Given the description of an element on the screen output the (x, y) to click on. 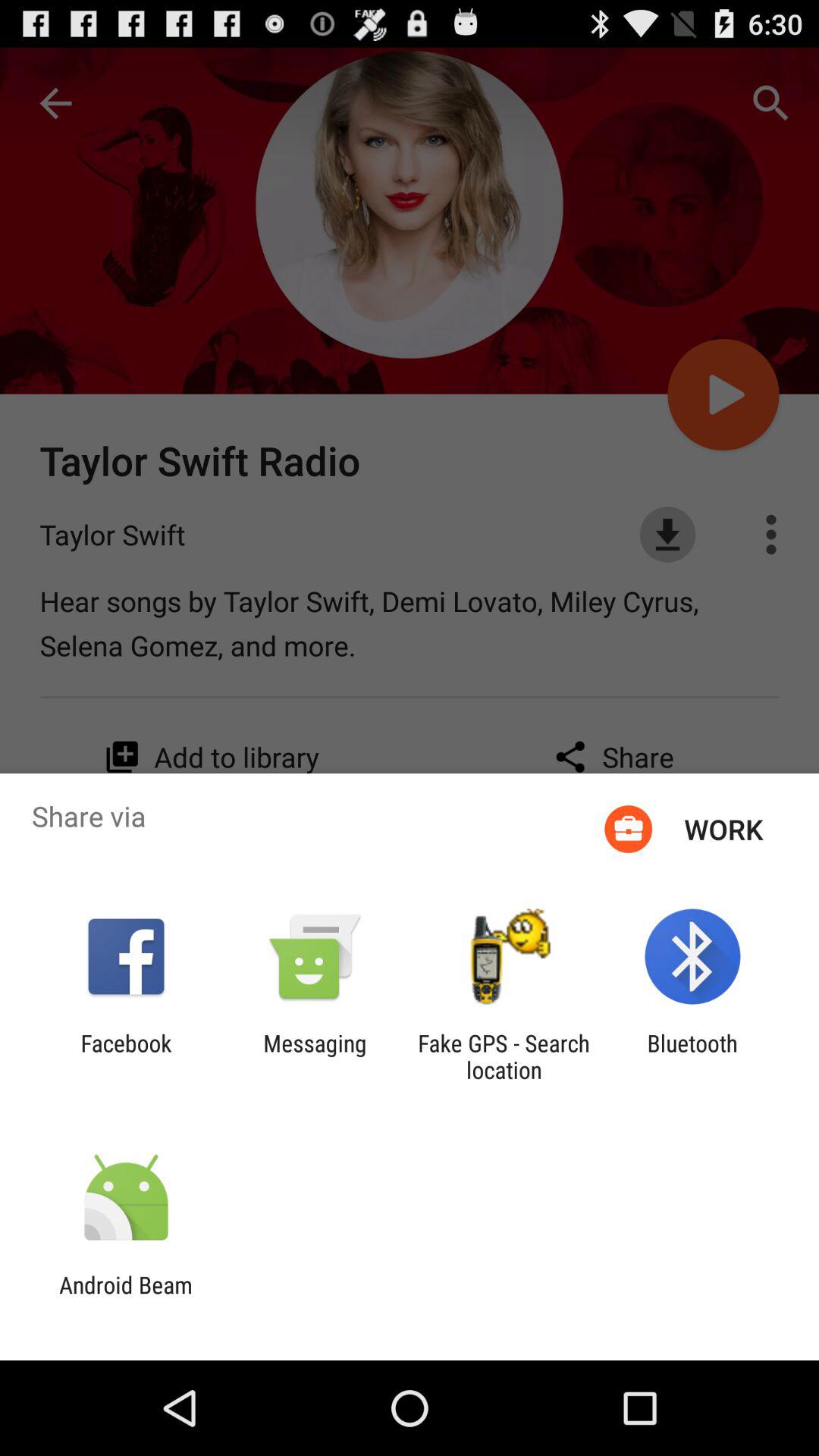
click the item next to the bluetooth app (503, 1056)
